Given the description of an element on the screen output the (x, y) to click on. 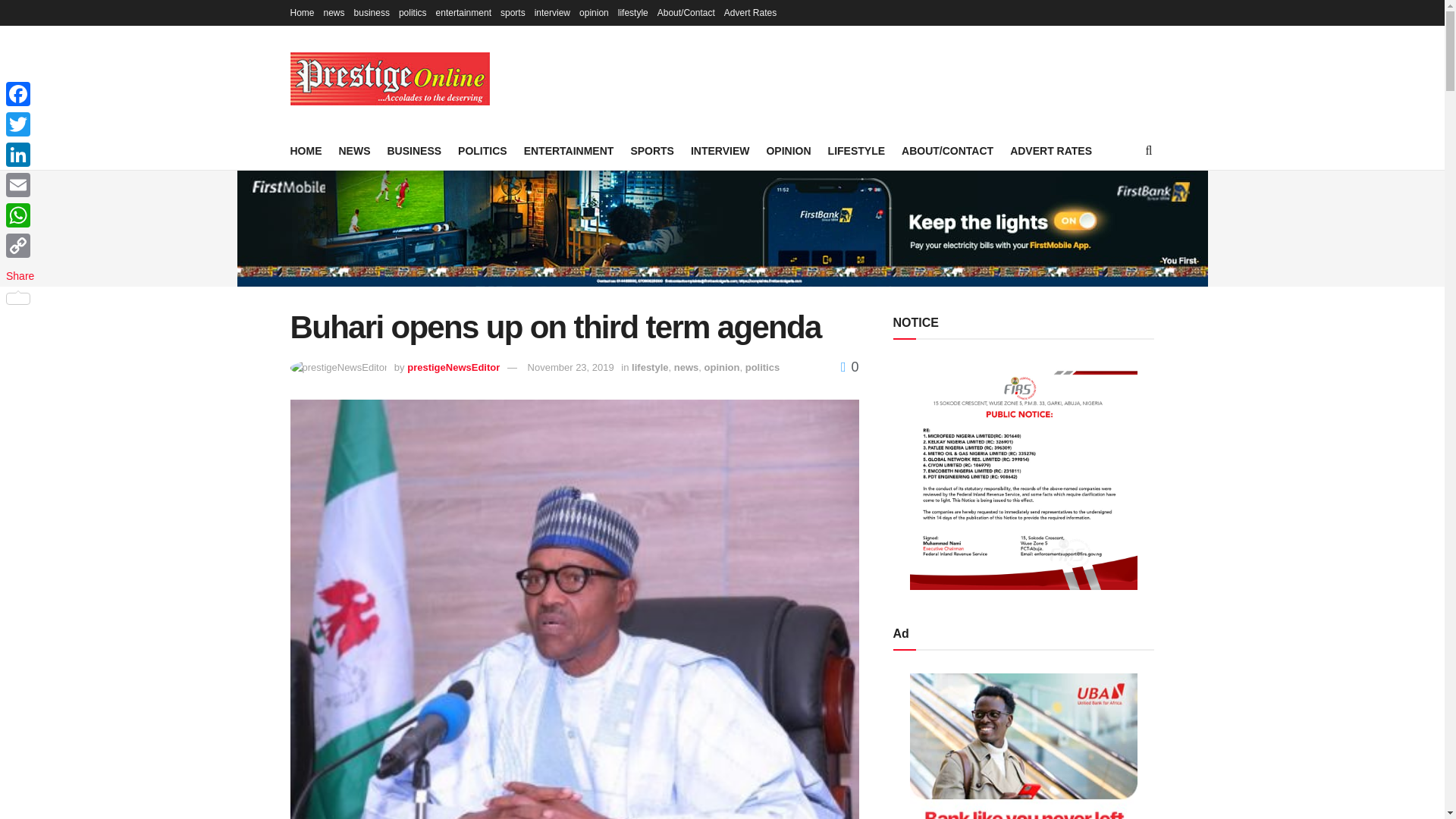
lifestyle (632, 12)
Home (301, 12)
BUSINESS (414, 150)
SPORTS (652, 150)
business (371, 12)
POLITICS (482, 150)
LIFESTYLE (856, 150)
HOME (305, 150)
ENTERTAINMENT (569, 150)
politics (412, 12)
